Given the description of an element on the screen output the (x, y) to click on. 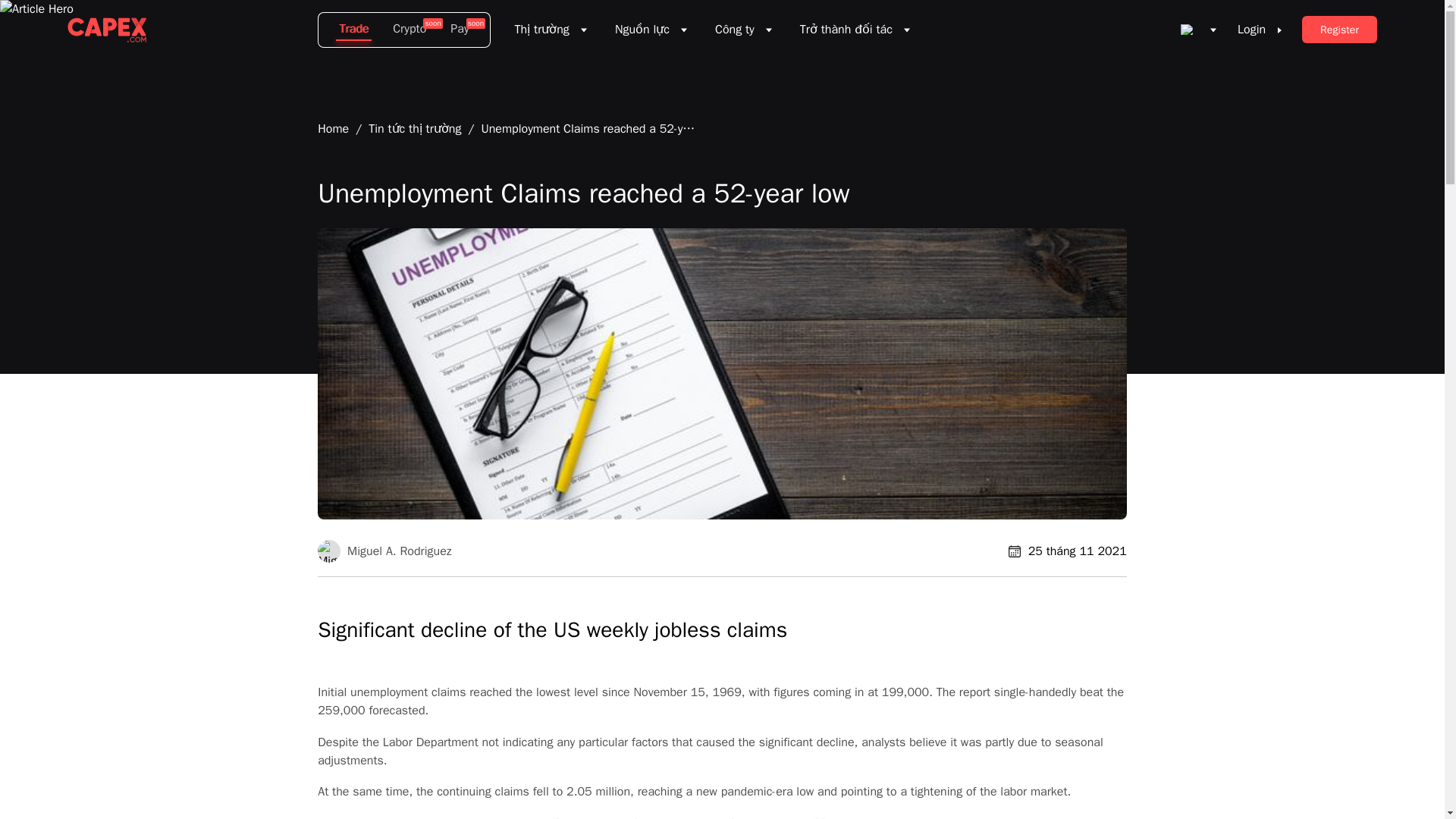
Login (1259, 29)
Trade (348, 29)
CAPEX.com (106, 29)
Register (1339, 28)
